Given the description of an element on the screen output the (x, y) to click on. 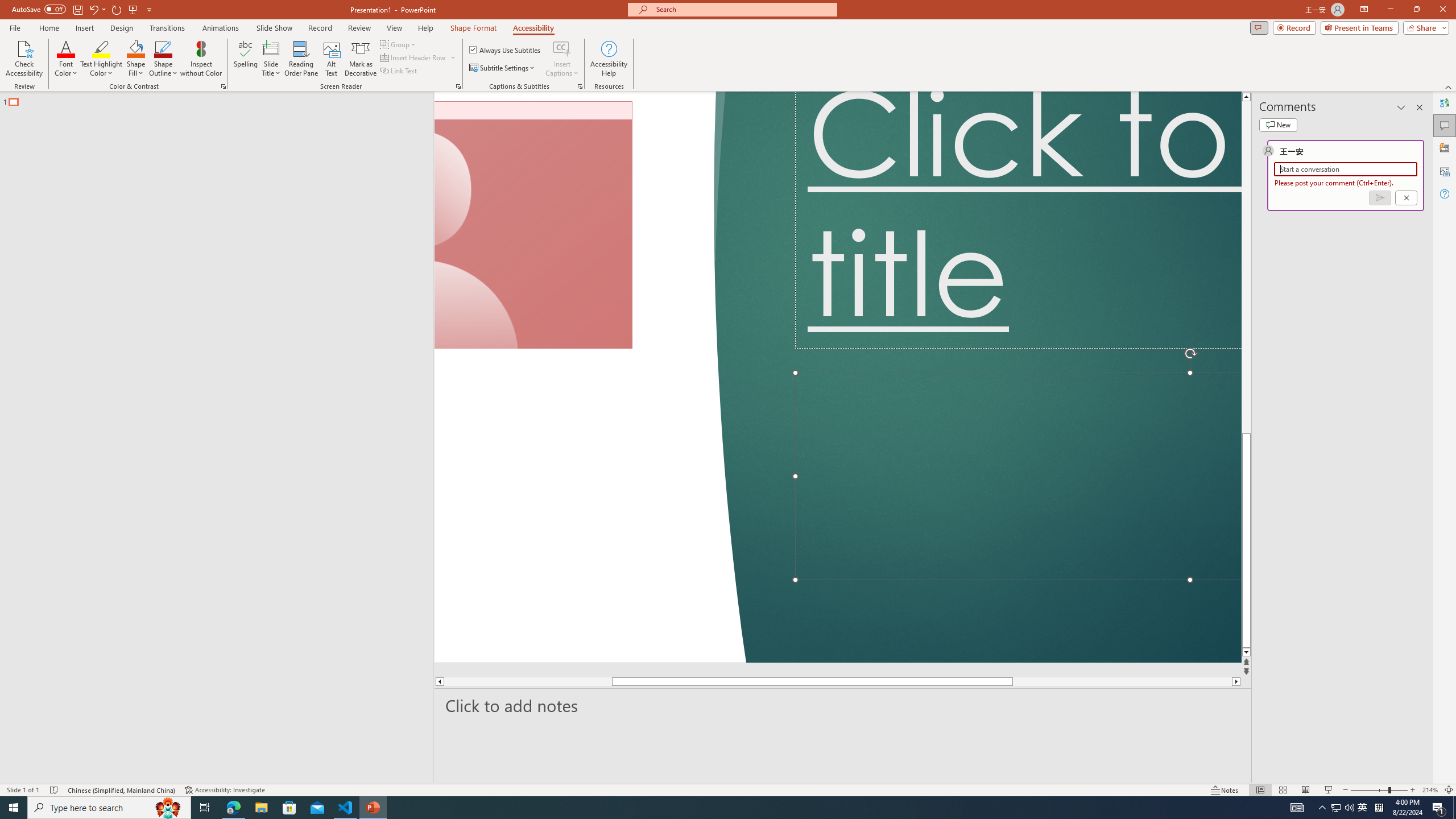
Reading Order Pane (301, 58)
Font Color (65, 58)
Microsoft search (742, 9)
Check Accessibility (23, 58)
Color & Contrast (223, 85)
Insert Header Row (418, 56)
Text Highlight Color (100, 58)
